Given the description of an element on the screen output the (x, y) to click on. 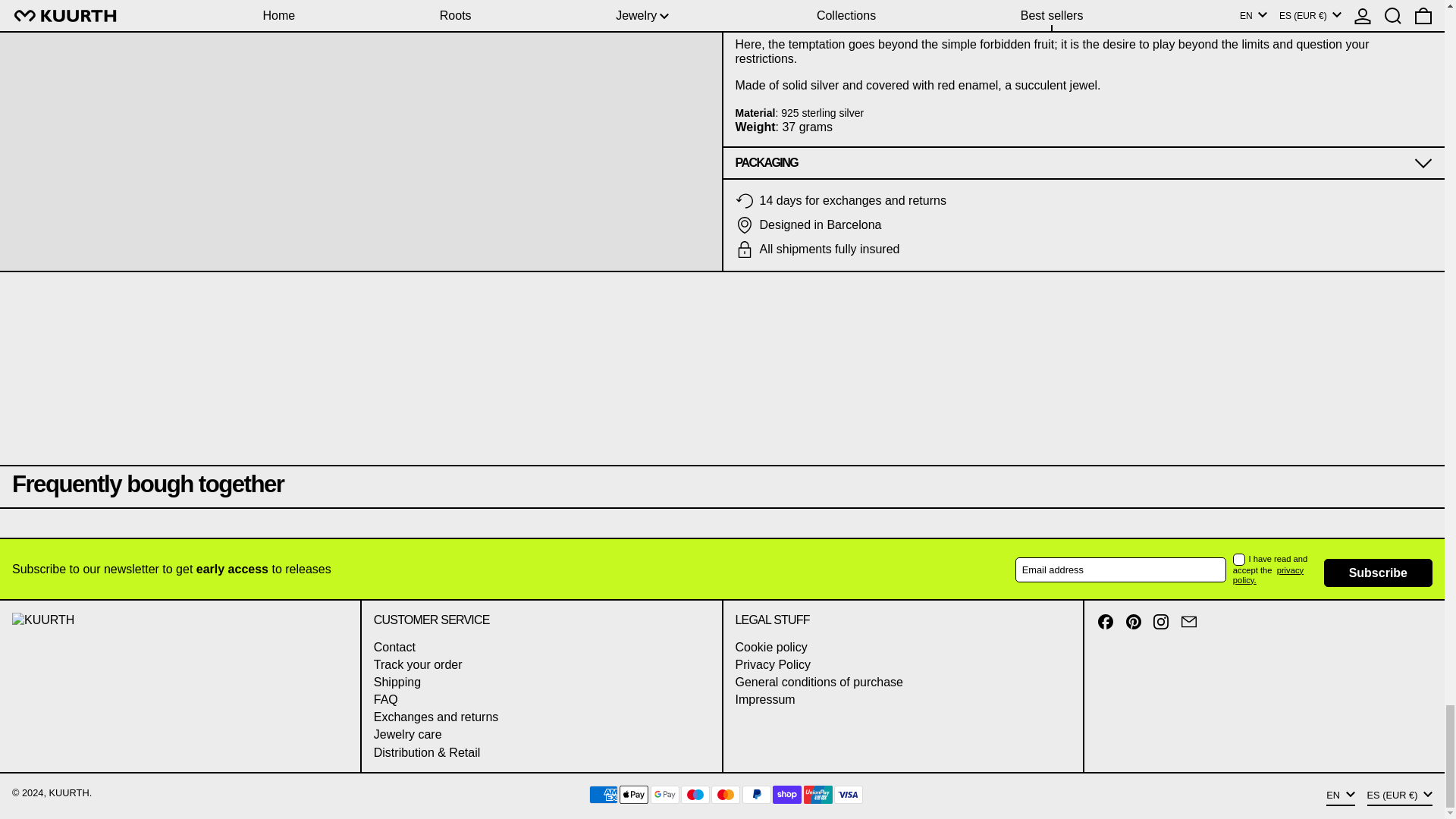
Customer reviews powered by Trustpilot (721, 525)
on (1238, 559)
